Given the description of an element on the screen output the (x, y) to click on. 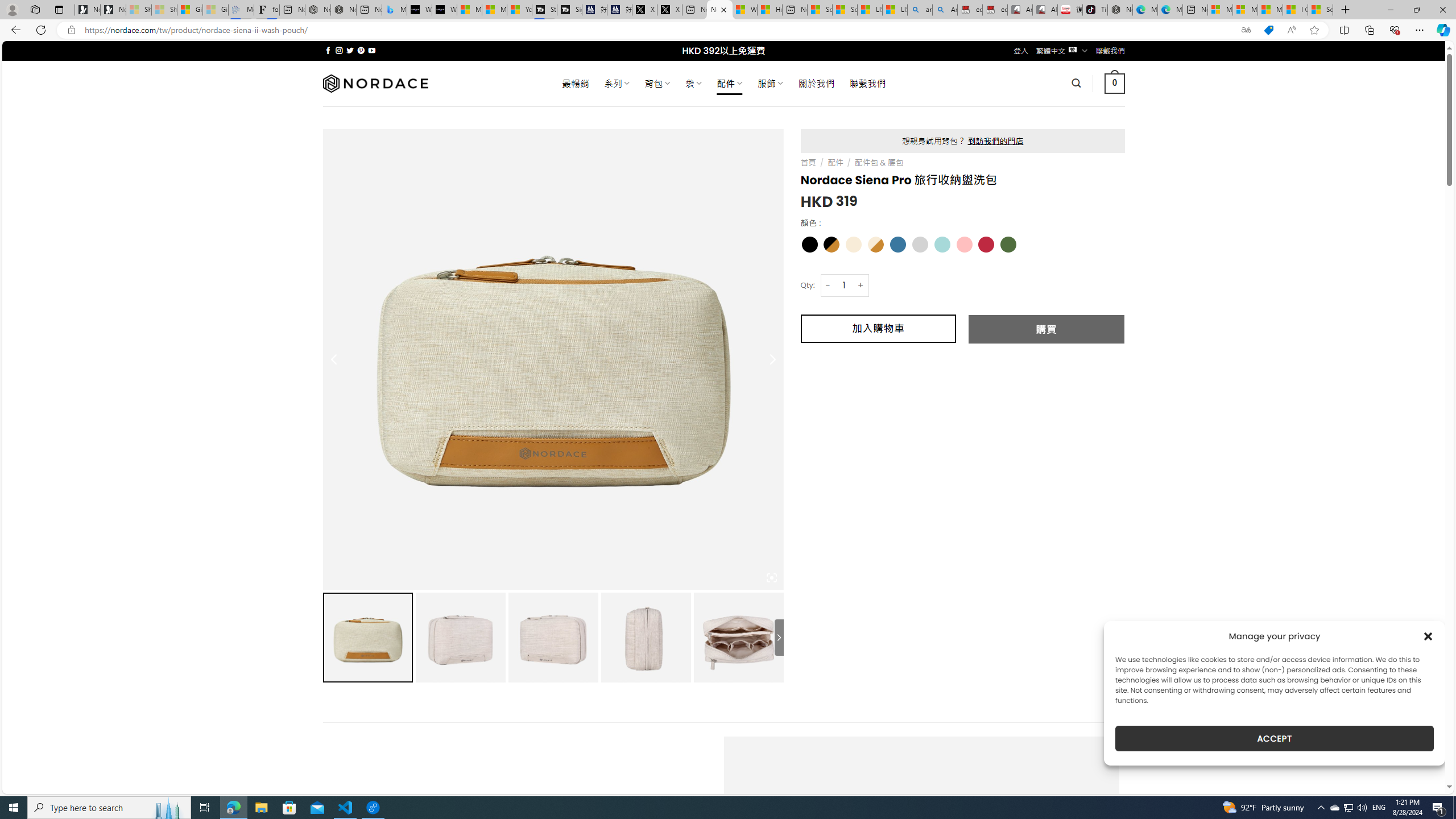
Follow on Twitter (349, 50)
